Given the description of an element on the screen output the (x, y) to click on. 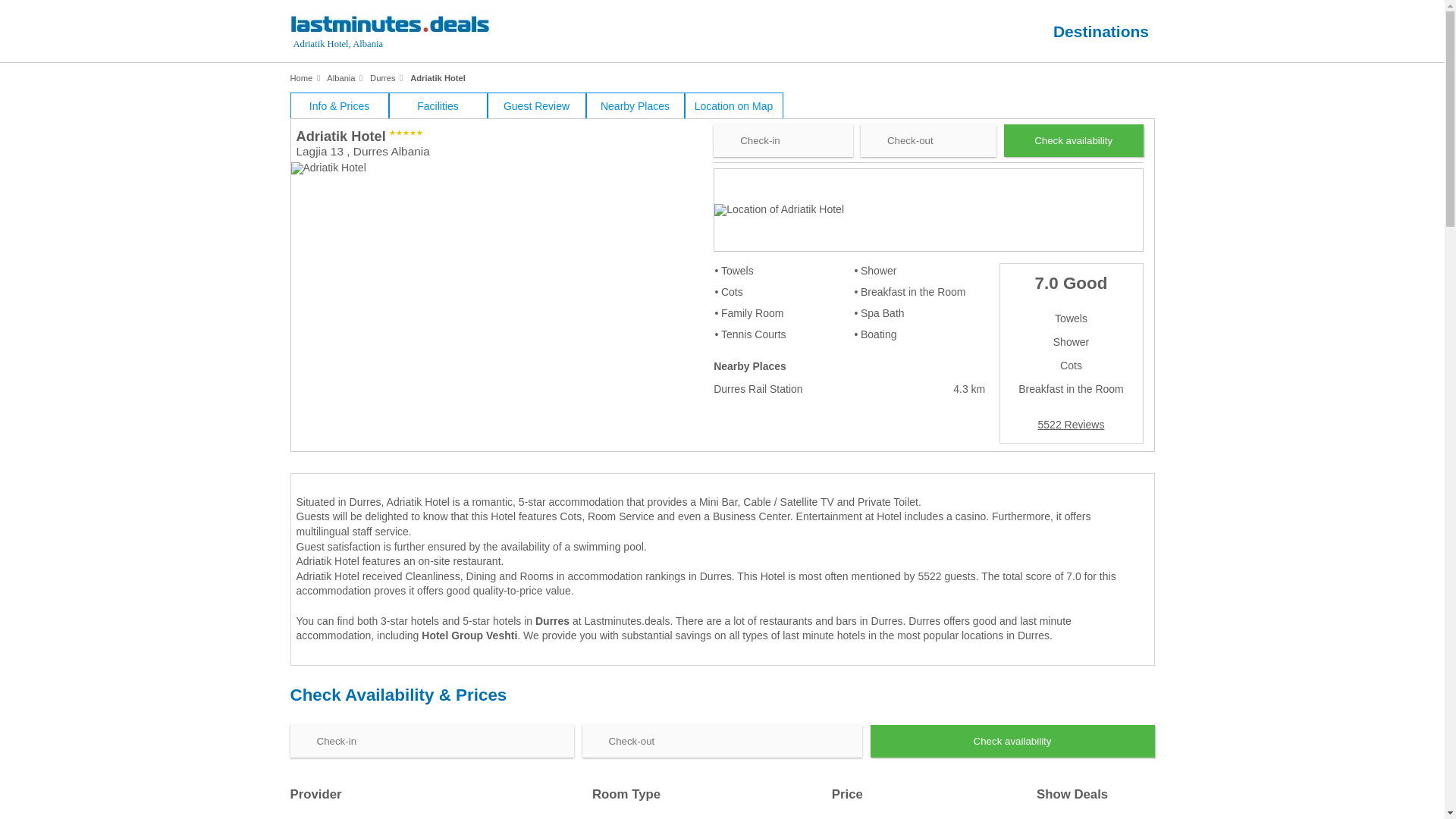
Location on Map (733, 105)
Durres hotels (382, 77)
Destinations (1100, 31)
Travel Destinations (1100, 31)
Nearby Places (634, 105)
Albania hotels (340, 77)
Location on Map (733, 105)
Nearby Places (634, 105)
Durres (552, 620)
Home (301, 77)
